Given the description of an element on the screen output the (x, y) to click on. 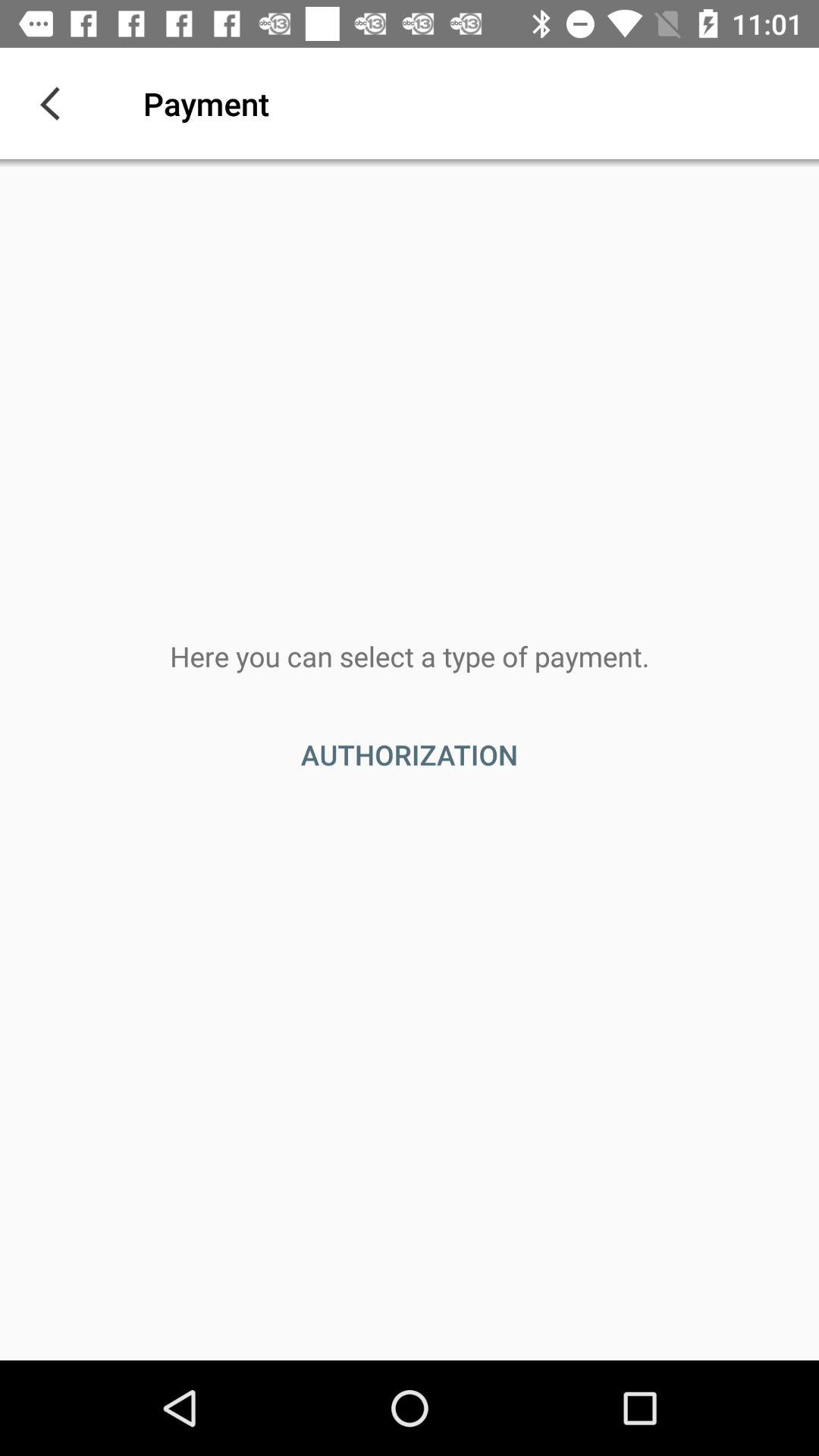
choose the item below the here you can item (409, 754)
